Given the description of an element on the screen output the (x, y) to click on. 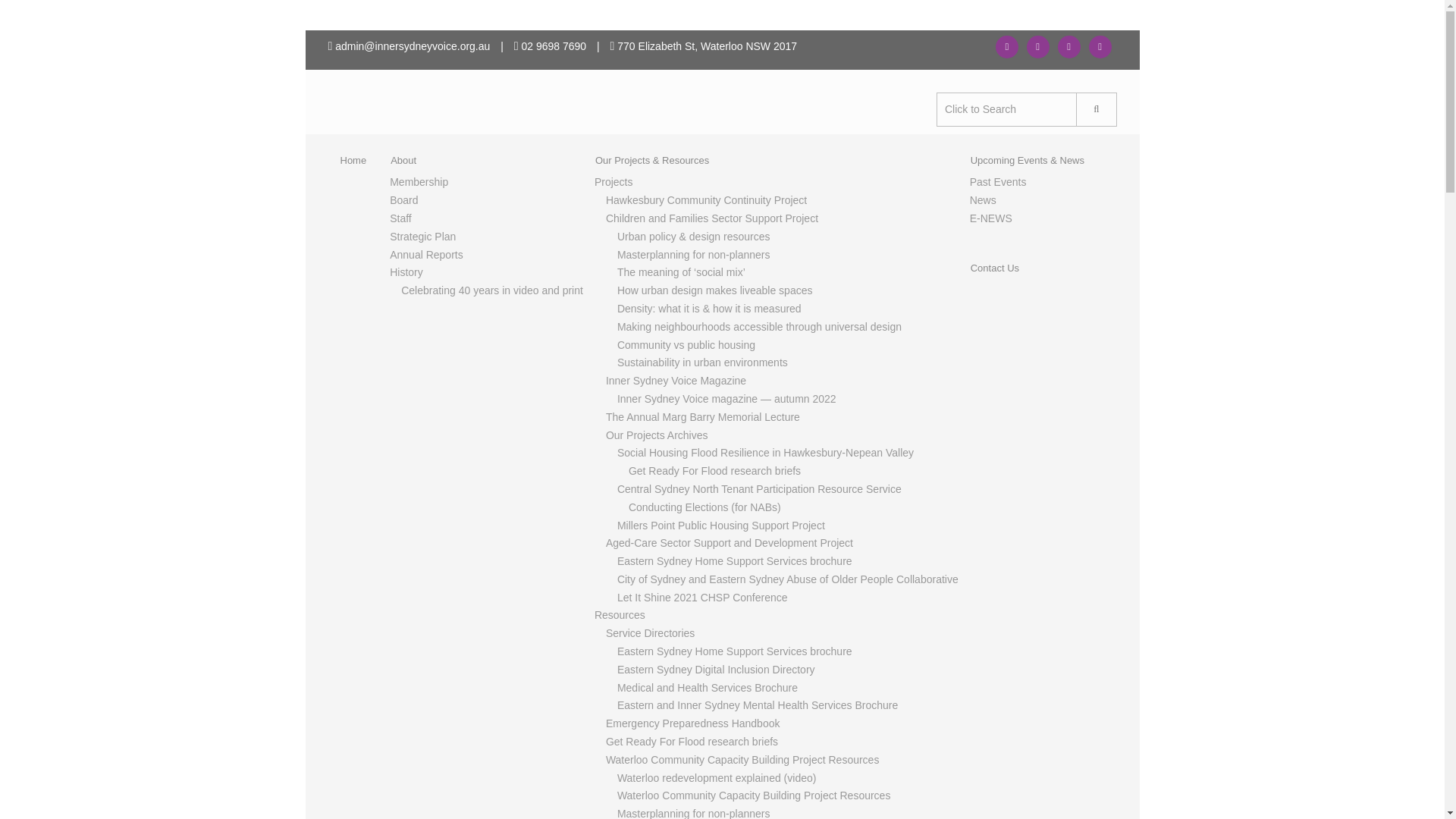
Home (352, 161)
Aged-Care Sector Support and Development Project (729, 542)
Inner Sydney Voice Magazine (675, 380)
Board (403, 200)
Celebrating 40 years in video and print (492, 290)
770 Elizabeth St, Waterloo NSW 2017 (703, 46)
Get Ready For Flood research briefs (714, 470)
How urban design makes liveable spaces (714, 290)
Strategic Plan (422, 236)
Community vs public housing (686, 345)
